Given the description of an element on the screen output the (x, y) to click on. 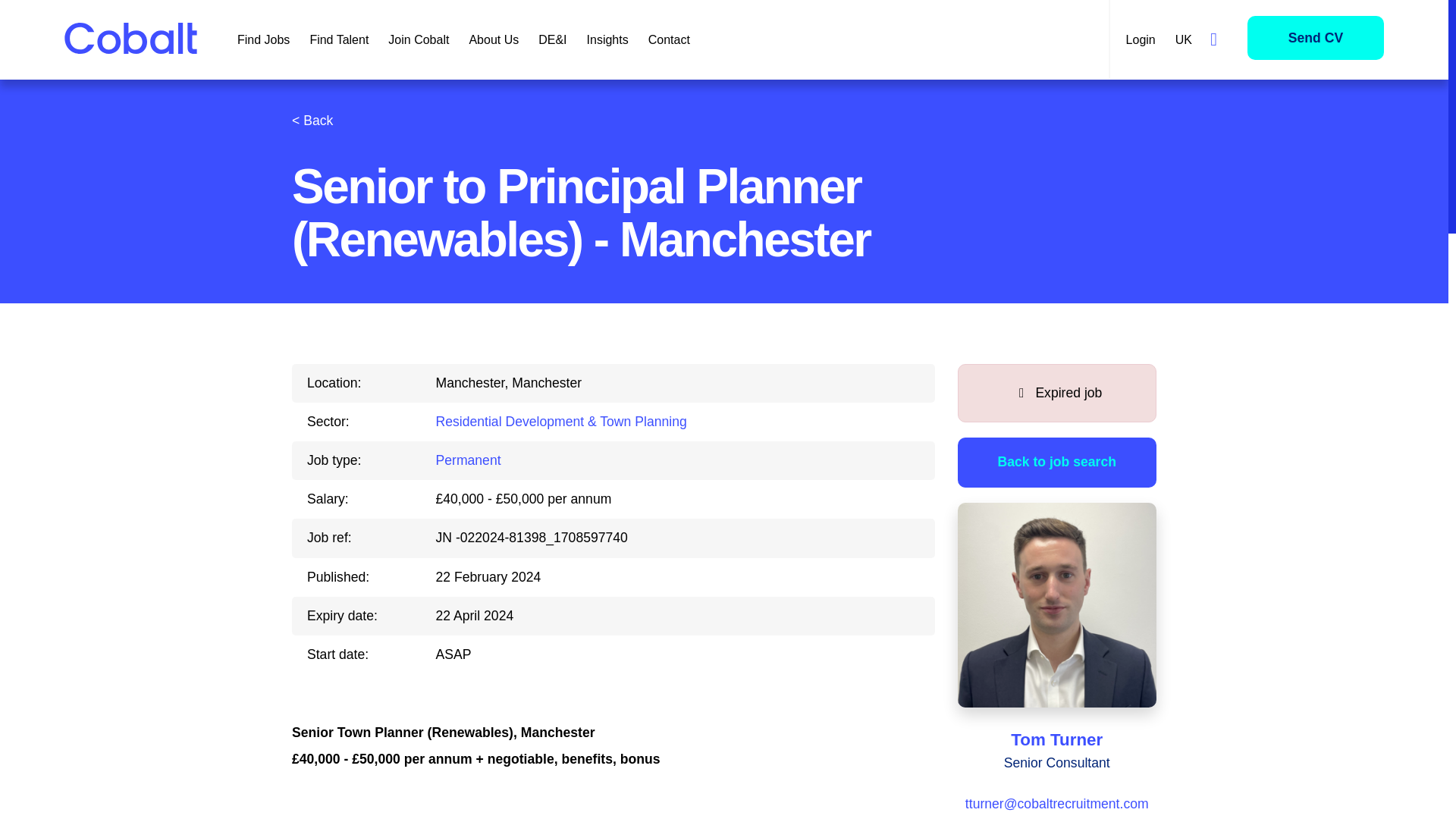
Contact (669, 39)
About Us (493, 39)
Send CV (1315, 36)
Tom Turner (1056, 739)
Back to job search (1056, 461)
Permanent (467, 459)
Find Talent (339, 39)
Join Cobalt (418, 39)
Insights (607, 39)
Login (1140, 39)
